Given the description of an element on the screen output the (x, y) to click on. 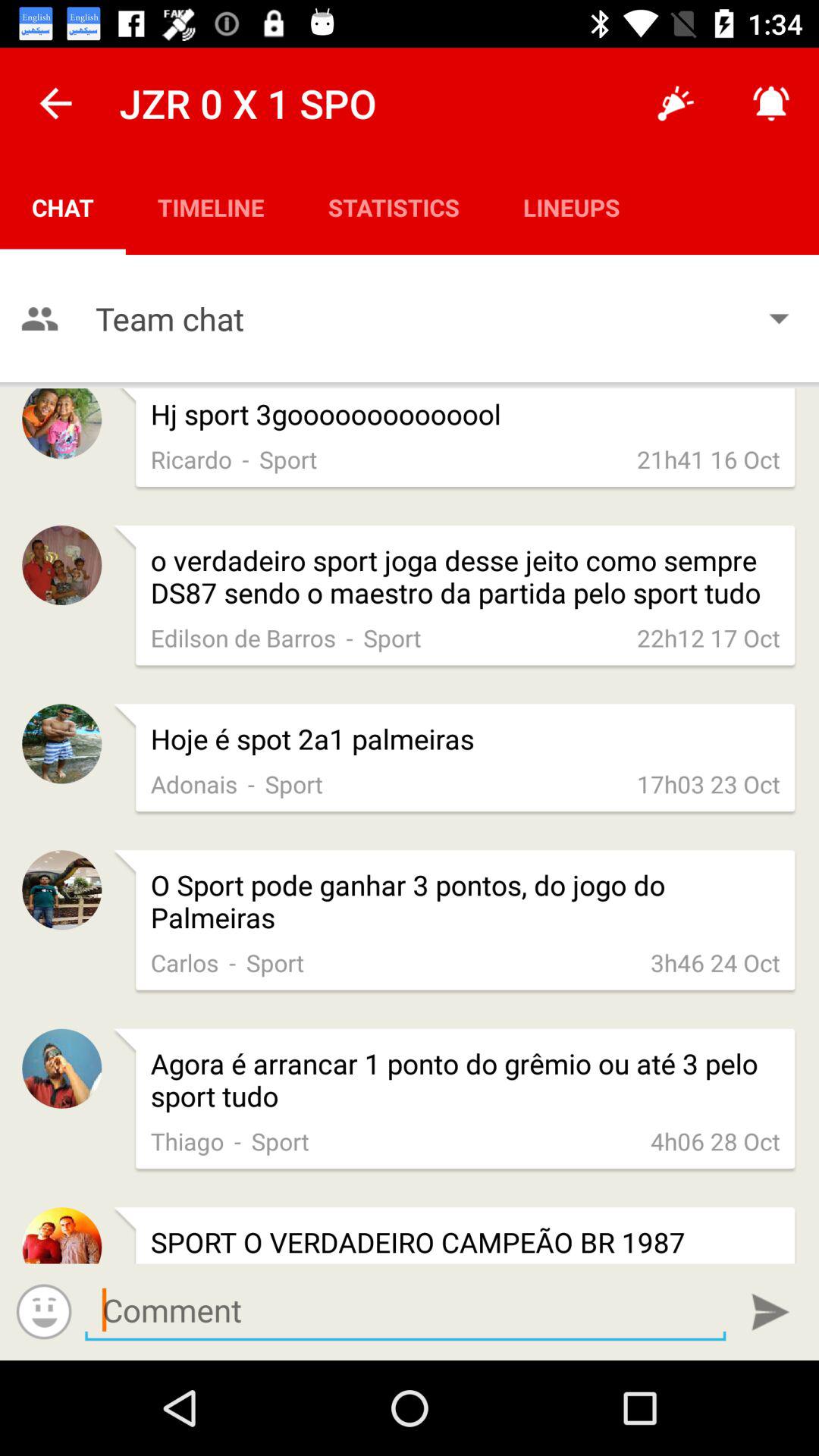
click on notification icon (771, 103)
